Given the description of an element on the screen output the (x, y) to click on. 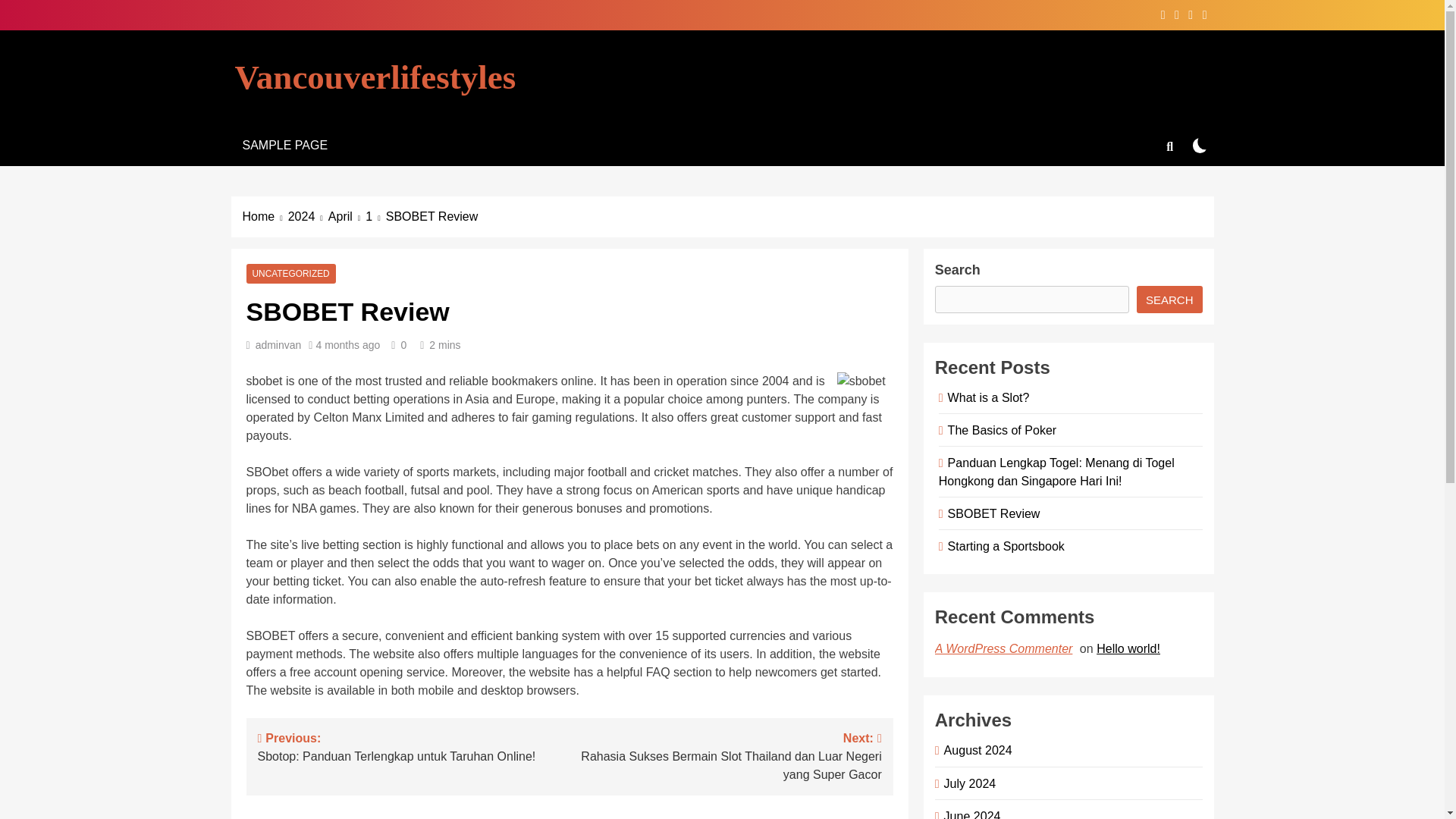
What is a Slot? (986, 397)
The Basics of Poker (999, 429)
SEARCH (1169, 298)
1 (375, 217)
on (1199, 145)
Starting a Sportsbook (1003, 545)
4 months ago (347, 345)
SBOBET Review (991, 513)
